Given the description of an element on the screen output the (x, y) to click on. 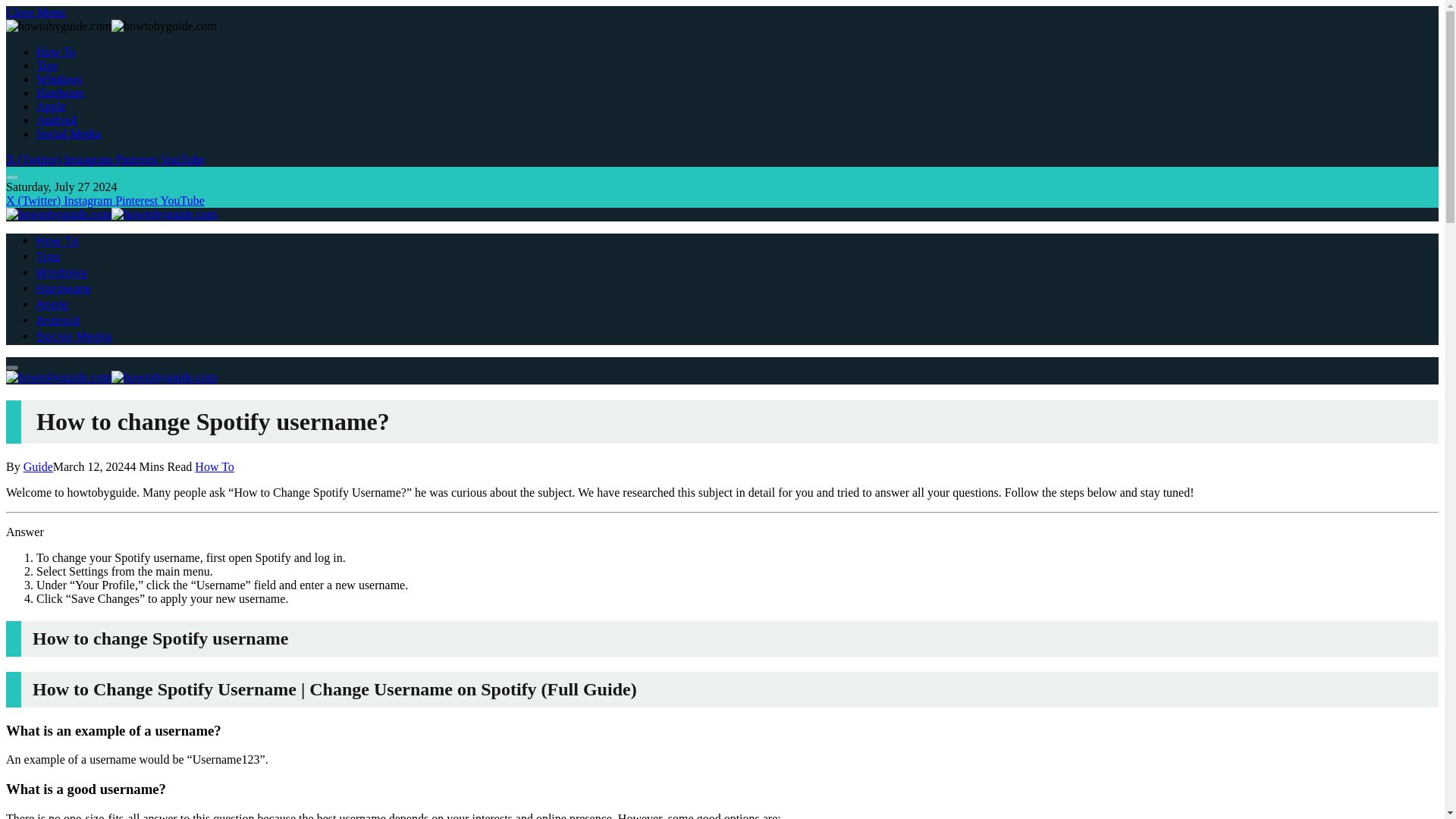
Apple (50, 106)
Hardware (60, 92)
Apple (52, 304)
Windows (61, 272)
Social Media (74, 336)
Guide (37, 466)
Tips (47, 65)
Close Menu (35, 11)
Tips (48, 256)
Pinterest (137, 159)
Hardware (63, 288)
Windows (59, 78)
Pinterest (137, 200)
howtobyguide.com (110, 377)
How To (55, 51)
